Given the description of an element on the screen output the (x, y) to click on. 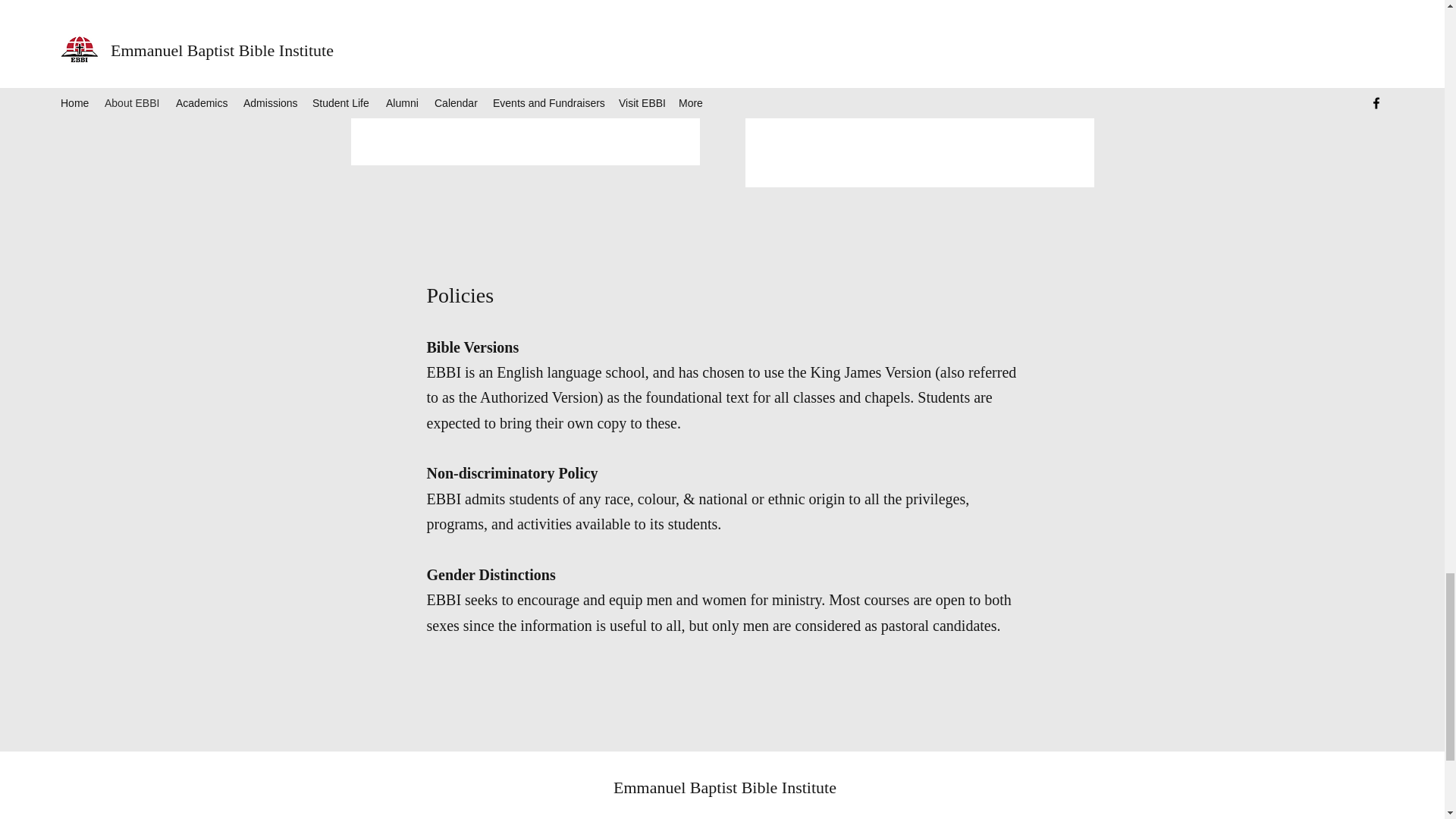
Emmanuel Baptist Bible Institute (723, 787)
